Given the description of an element on the screen output the (x, y) to click on. 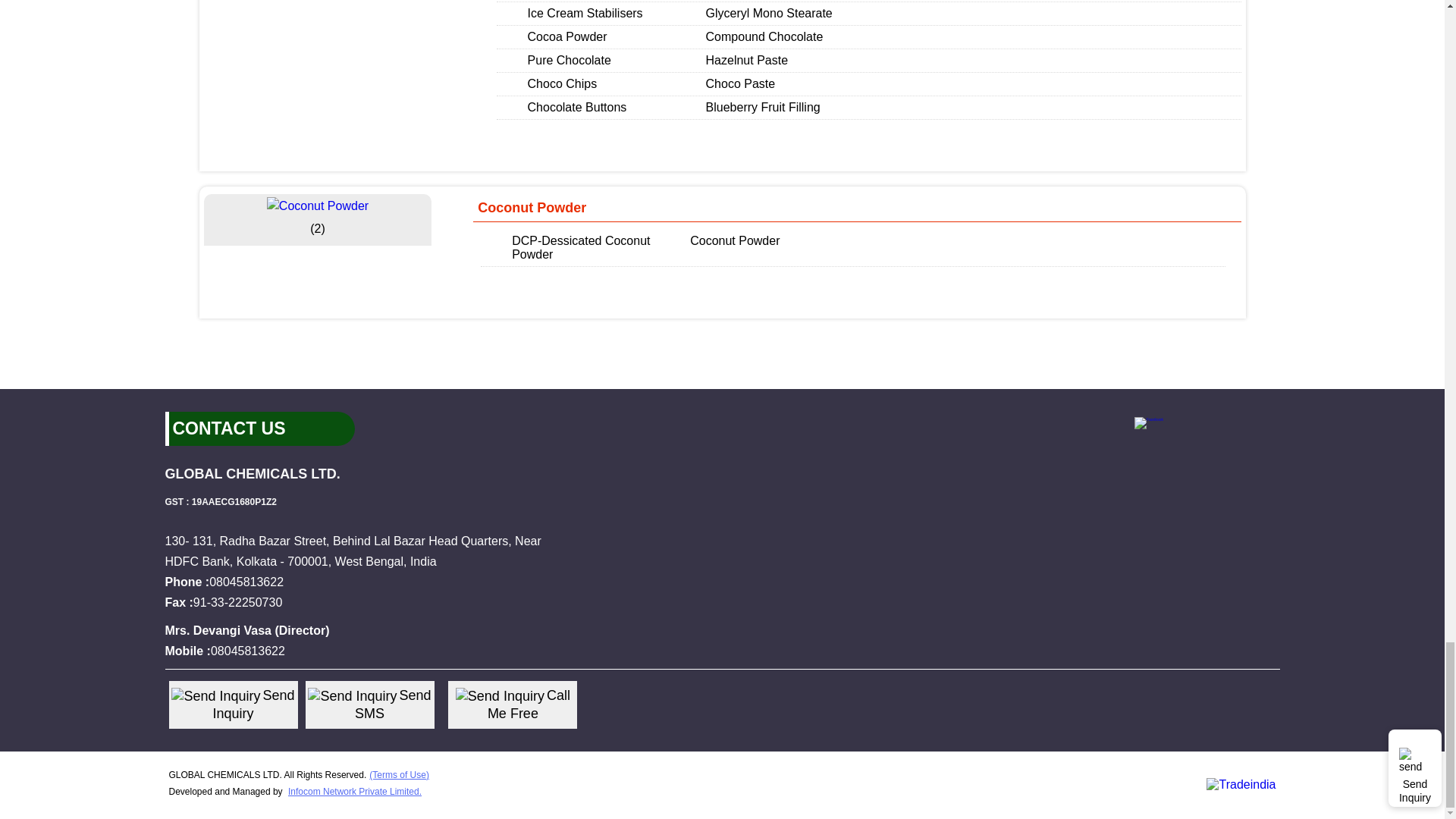
Coconut Powder (317, 206)
Facebook (1148, 418)
Send Inquiry (499, 696)
Send Inquiry (215, 696)
Send Inquiry (351, 696)
